Given the description of an element on the screen output the (x, y) to click on. 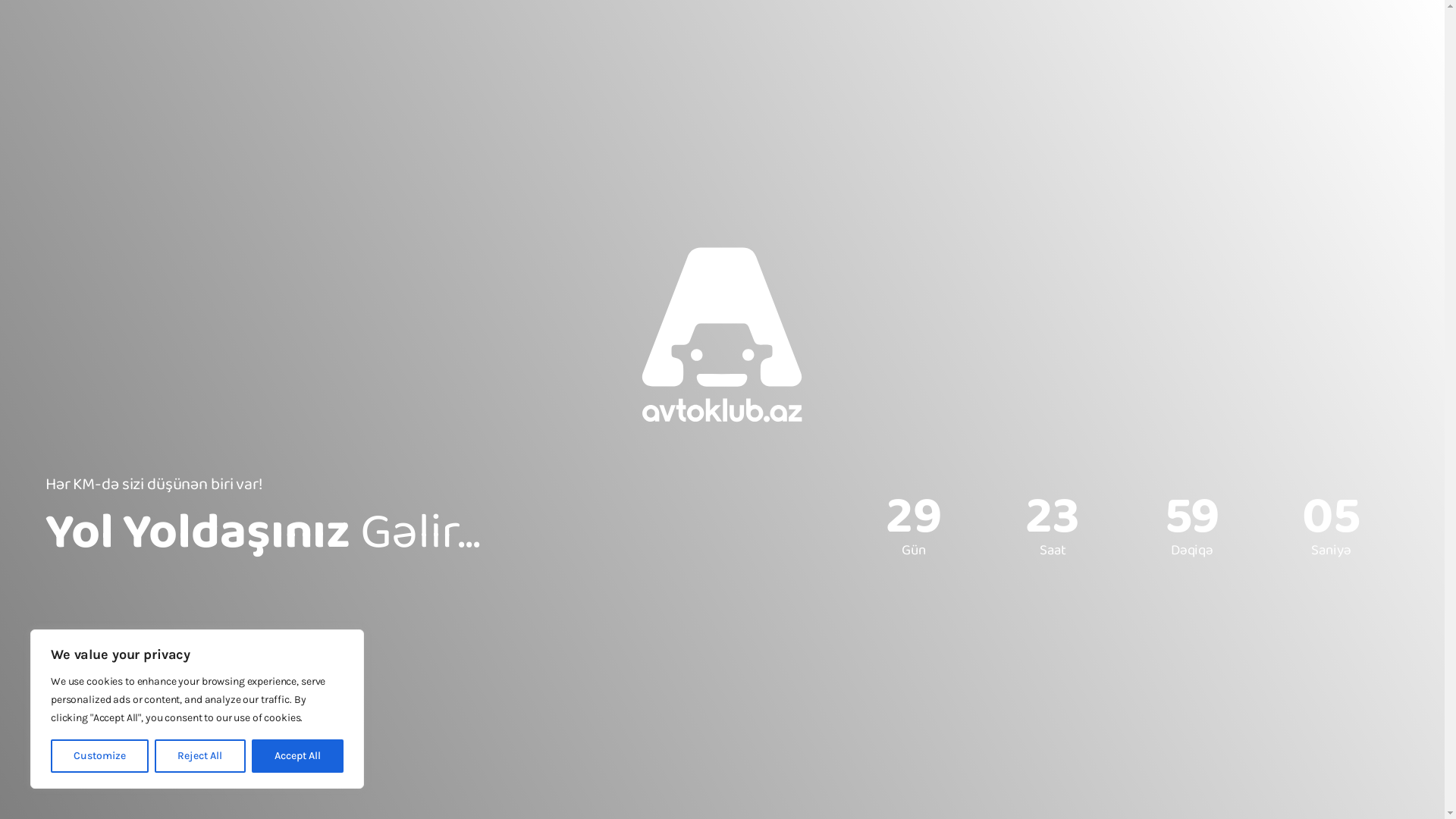
Customize Element type: text (99, 755)
Accept All Element type: text (297, 755)
Reject All Element type: text (199, 755)
